Given the description of an element on the screen output the (x, y) to click on. 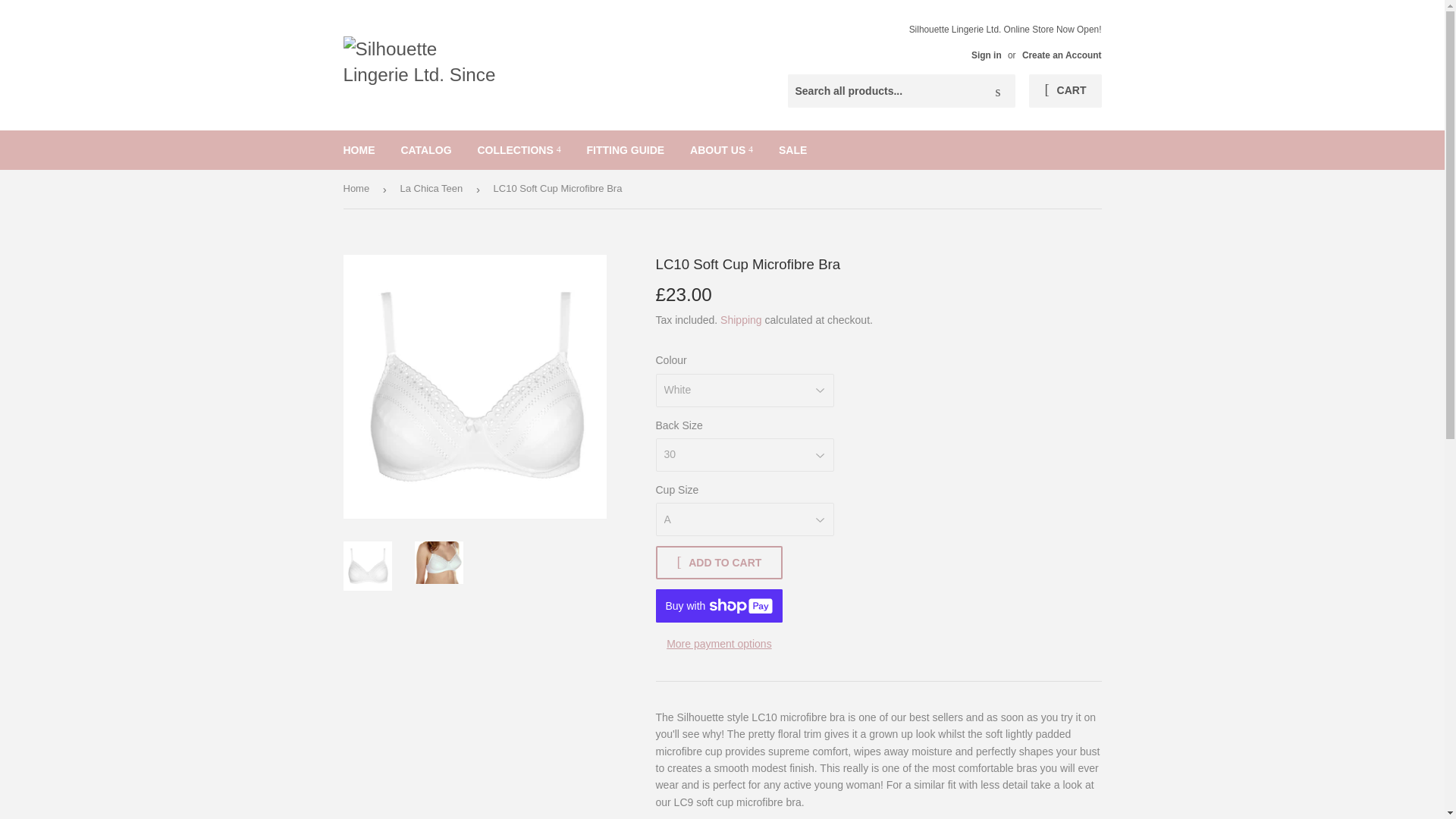
Search (997, 91)
CART (1064, 90)
CATALOG (425, 149)
Create an Account (1062, 54)
HOME (359, 149)
Sign in (986, 54)
COLLECTIONS (518, 149)
